Given the description of an element on the screen output the (x, y) to click on. 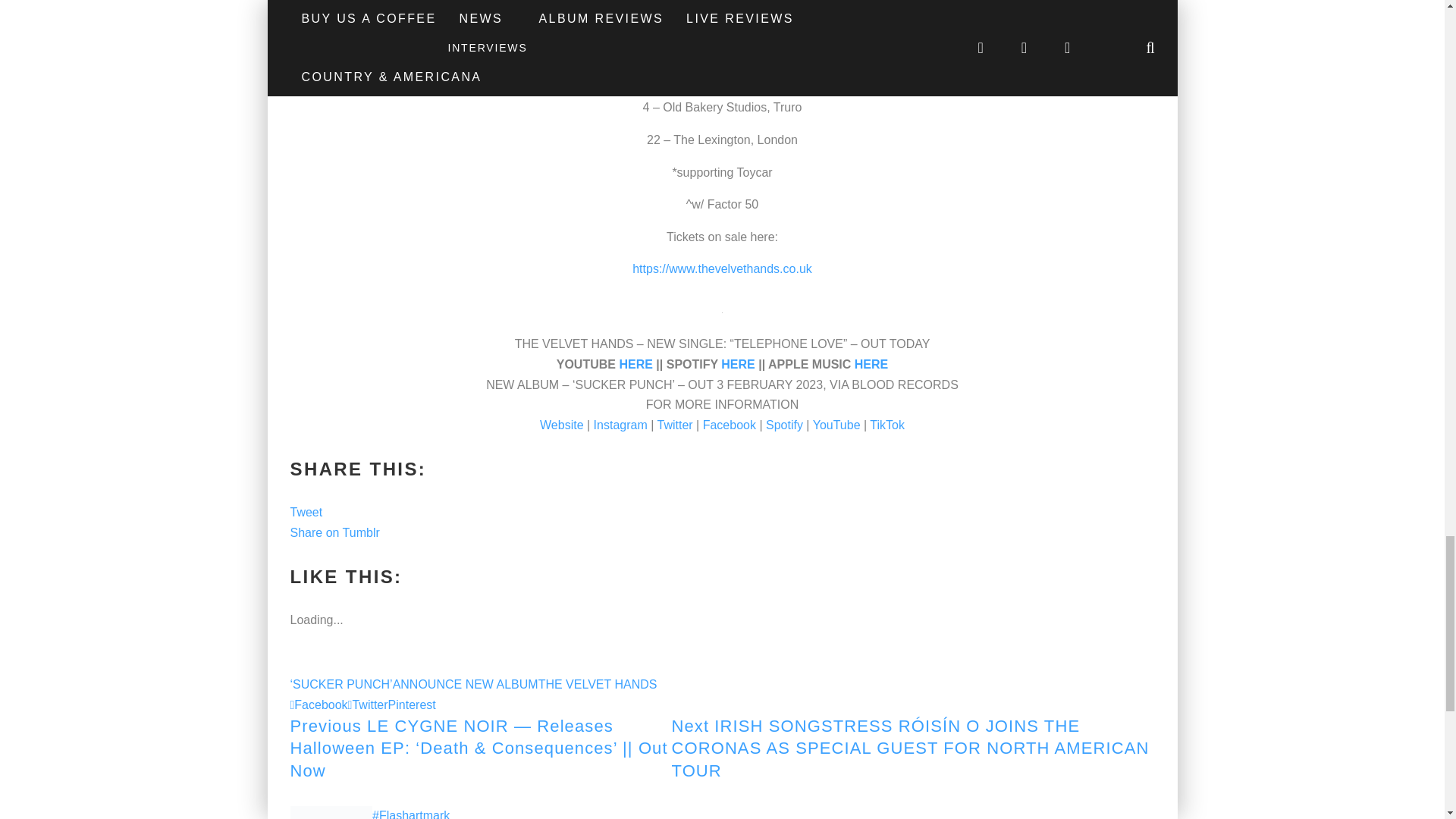
Website (561, 424)
HERE (871, 364)
HERE (737, 364)
Share on Tumblr (333, 532)
HERE (635, 364)
